Given the description of an element on the screen output the (x, y) to click on. 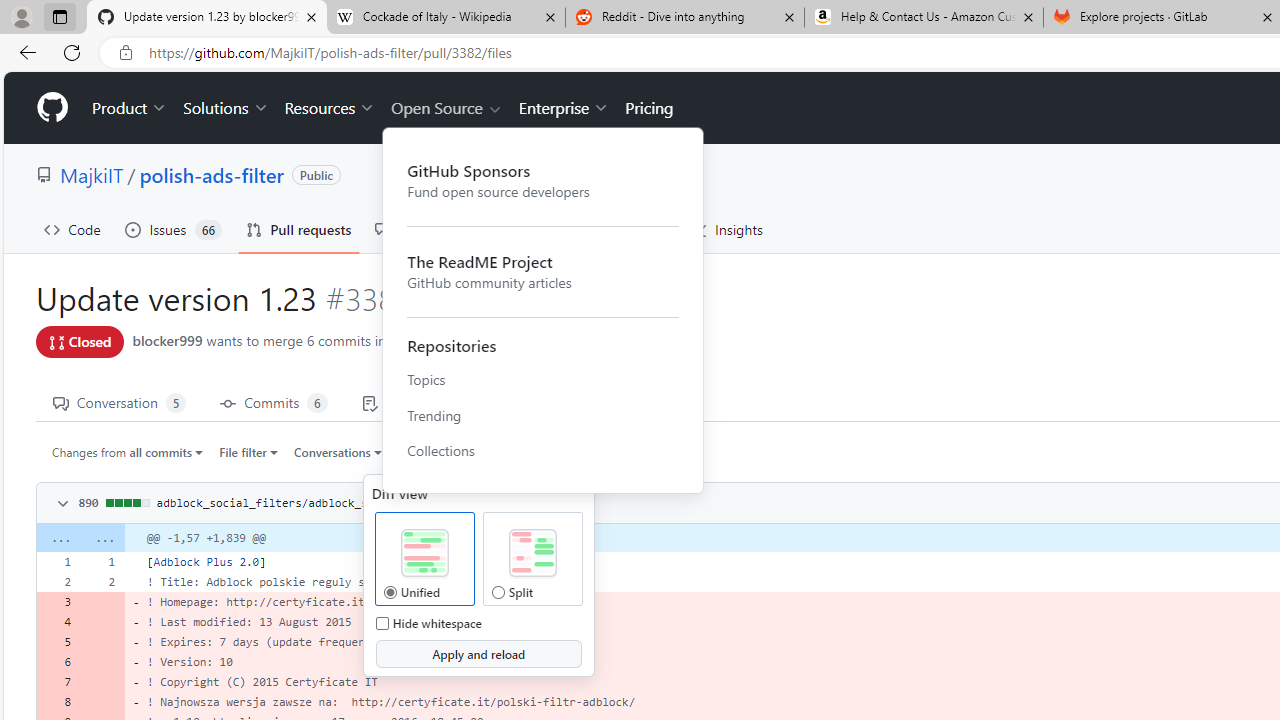
Solutions (225, 107)
Unified Diff View (424, 553)
 Files changed 1 (559, 401)
Conversations (338, 451)
Toggle diff contents (60, 504)
Solutions (225, 107)
Apply and reload (478, 654)
Split Diff View (532, 553)
 Checks 0 (409, 401)
Pricing (649, 107)
Actions (531, 229)
Hide whitespace (382, 623)
 Conversation 5 (119, 401)
